Given the description of an element on the screen output the (x, y) to click on. 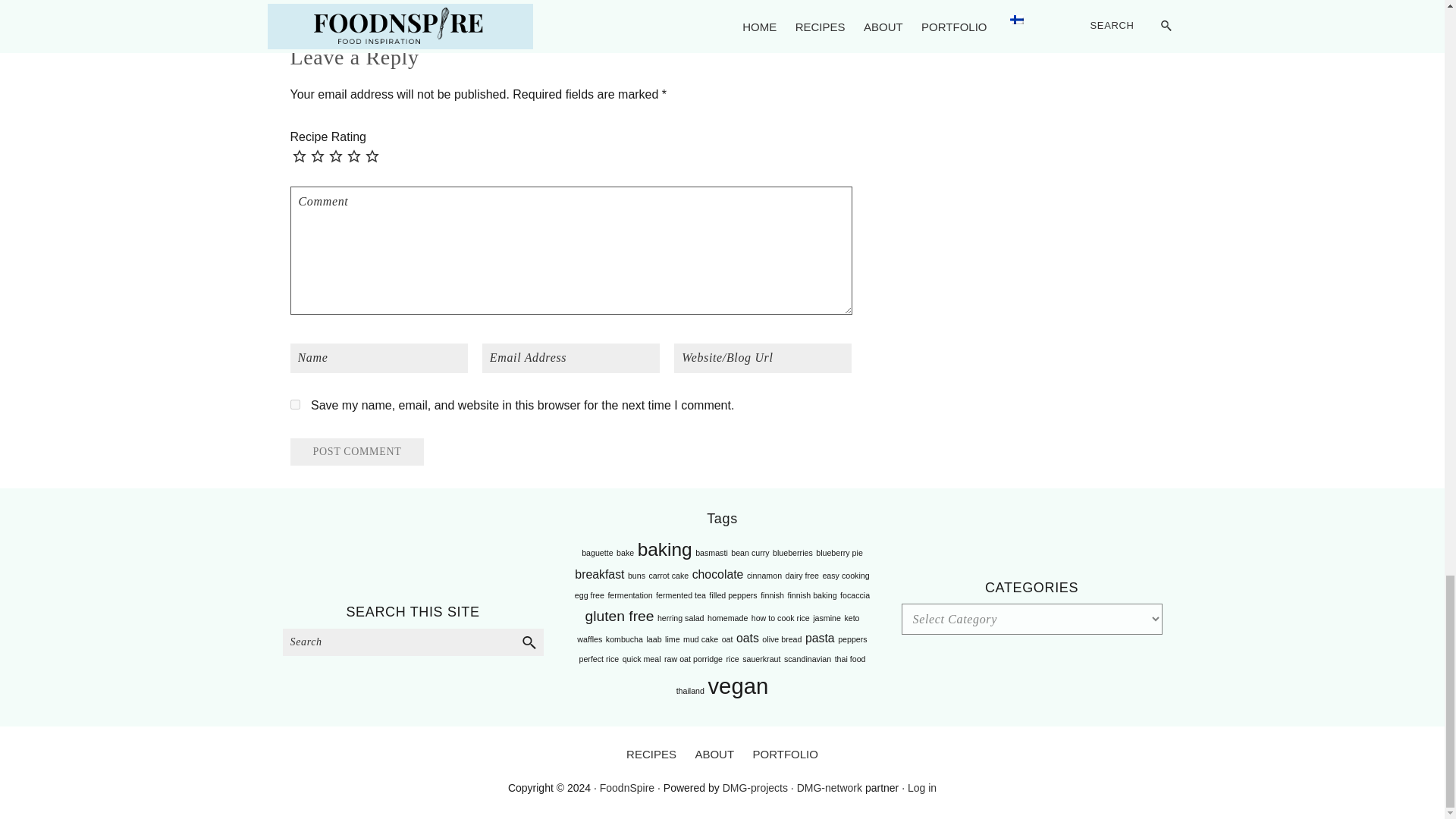
Main meals (555, 11)
Post Comment (356, 452)
Vegetarian (661, 11)
Post Comment (356, 452)
yes (294, 404)
Vegan (610, 11)
